Given the description of an element on the screen output the (x, y) to click on. 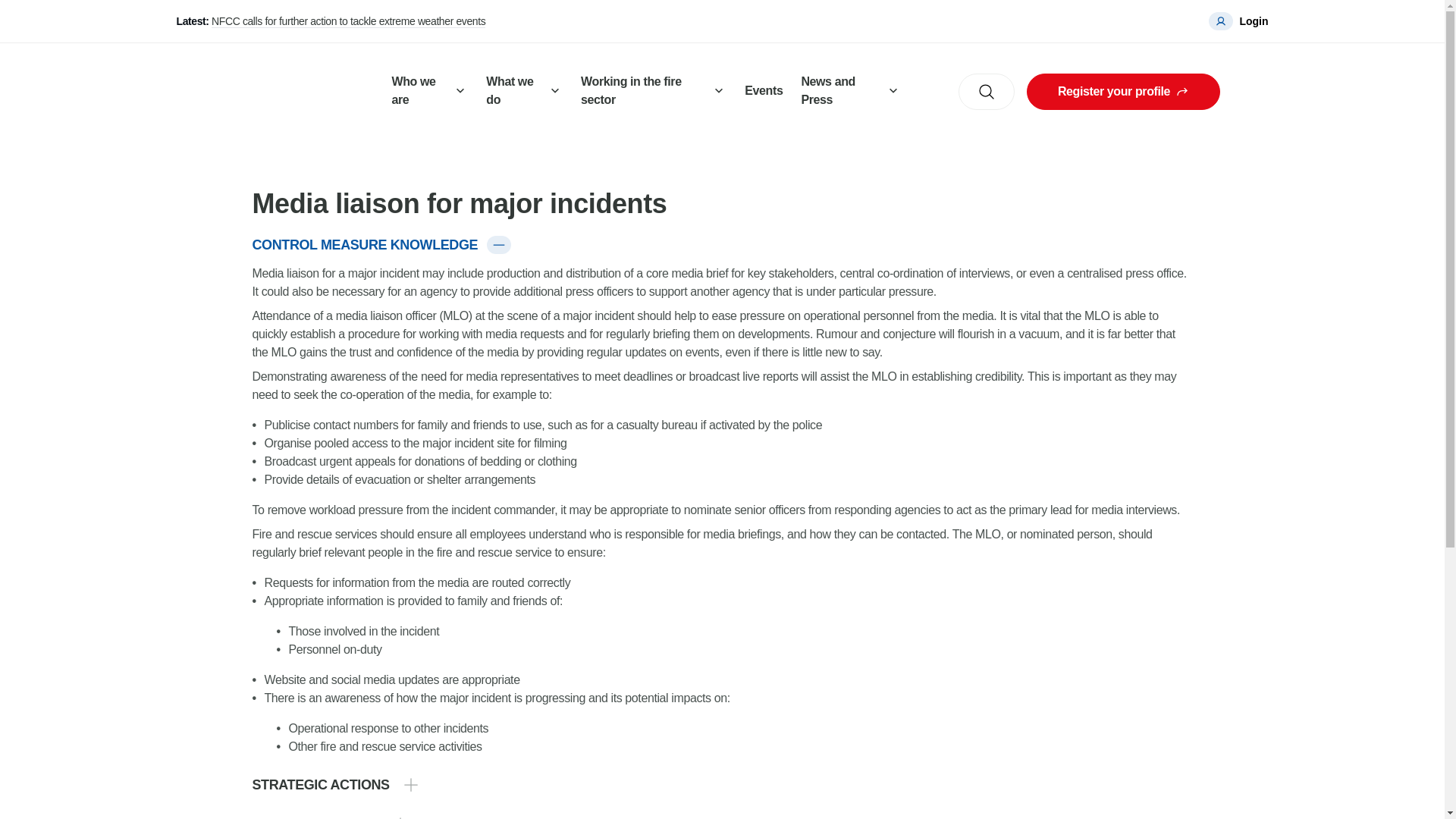
What we do (524, 91)
Who we are (429, 91)
Login (1238, 21)
Login (1238, 21)
